Given the description of an element on the screen output the (x, y) to click on. 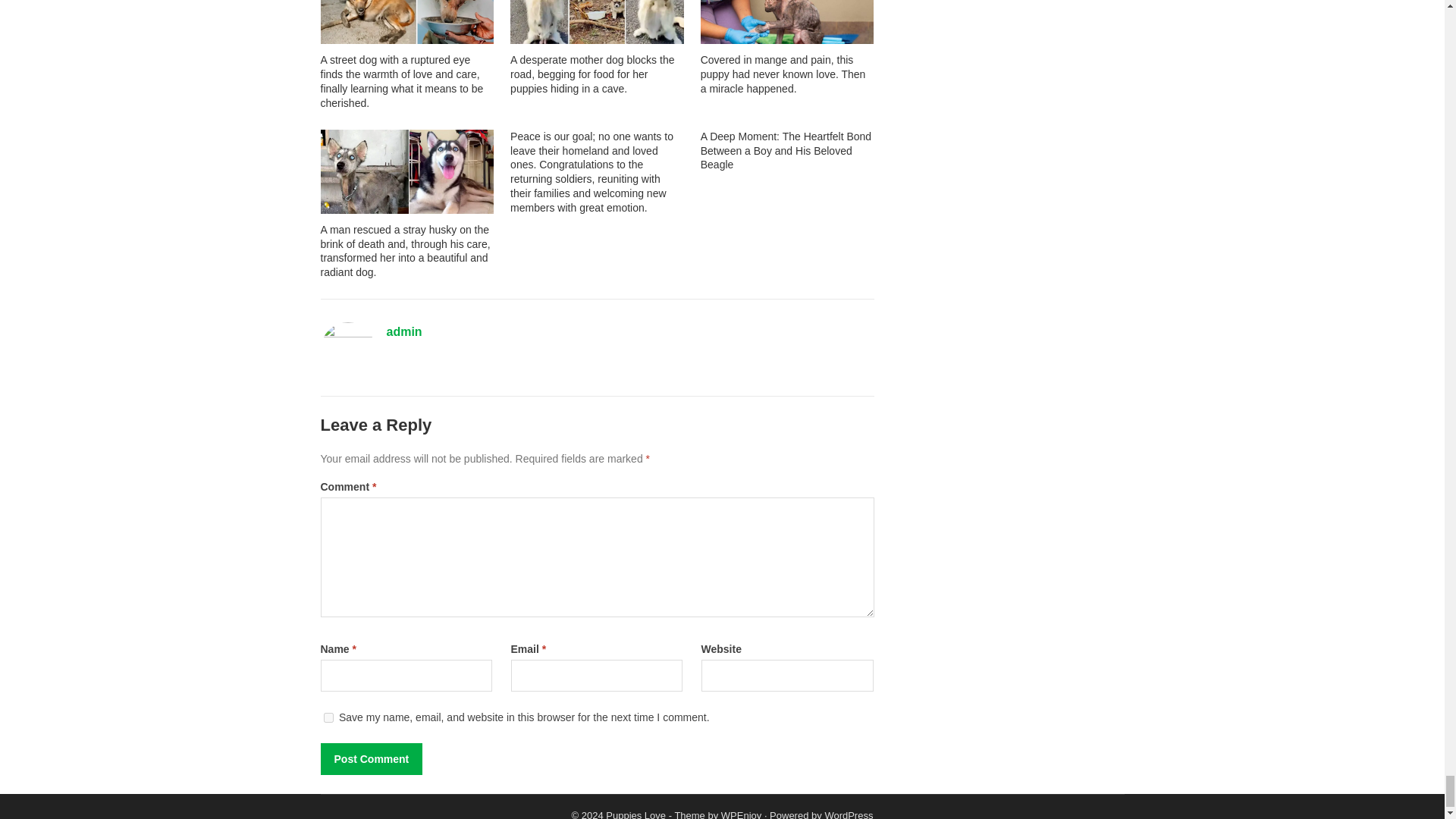
Post Comment (371, 758)
yes (328, 717)
